Given the description of an element on the screen output the (x, y) to click on. 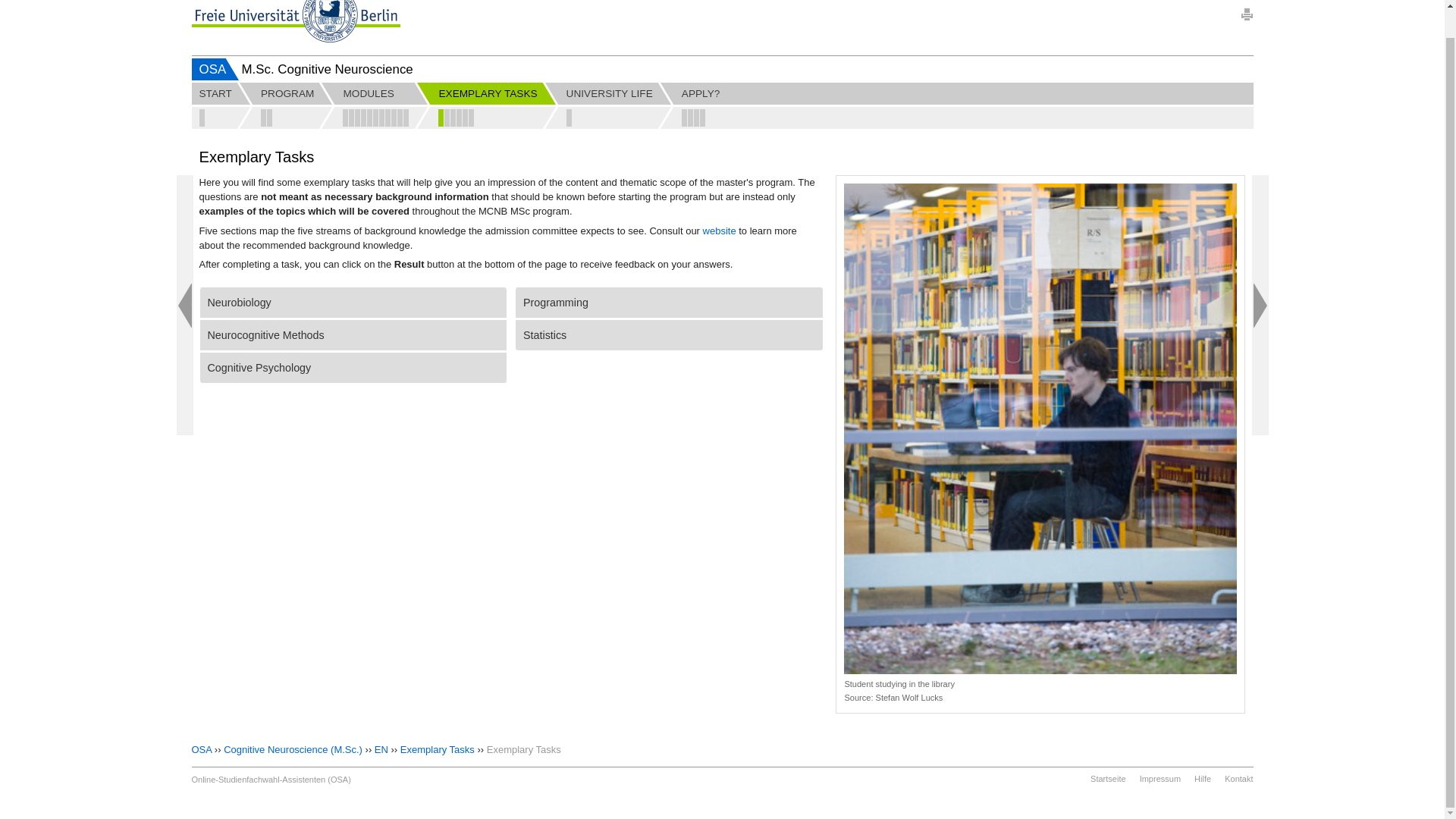
OSA (207, 69)
MODULES (382, 93)
UNIVERSITY LIFE (616, 93)
PROGRAM (293, 93)
APPLY? (722, 93)
EXEMPLARY TASKS (493, 93)
START (220, 93)
